Given the description of an element on the screen output the (x, y) to click on. 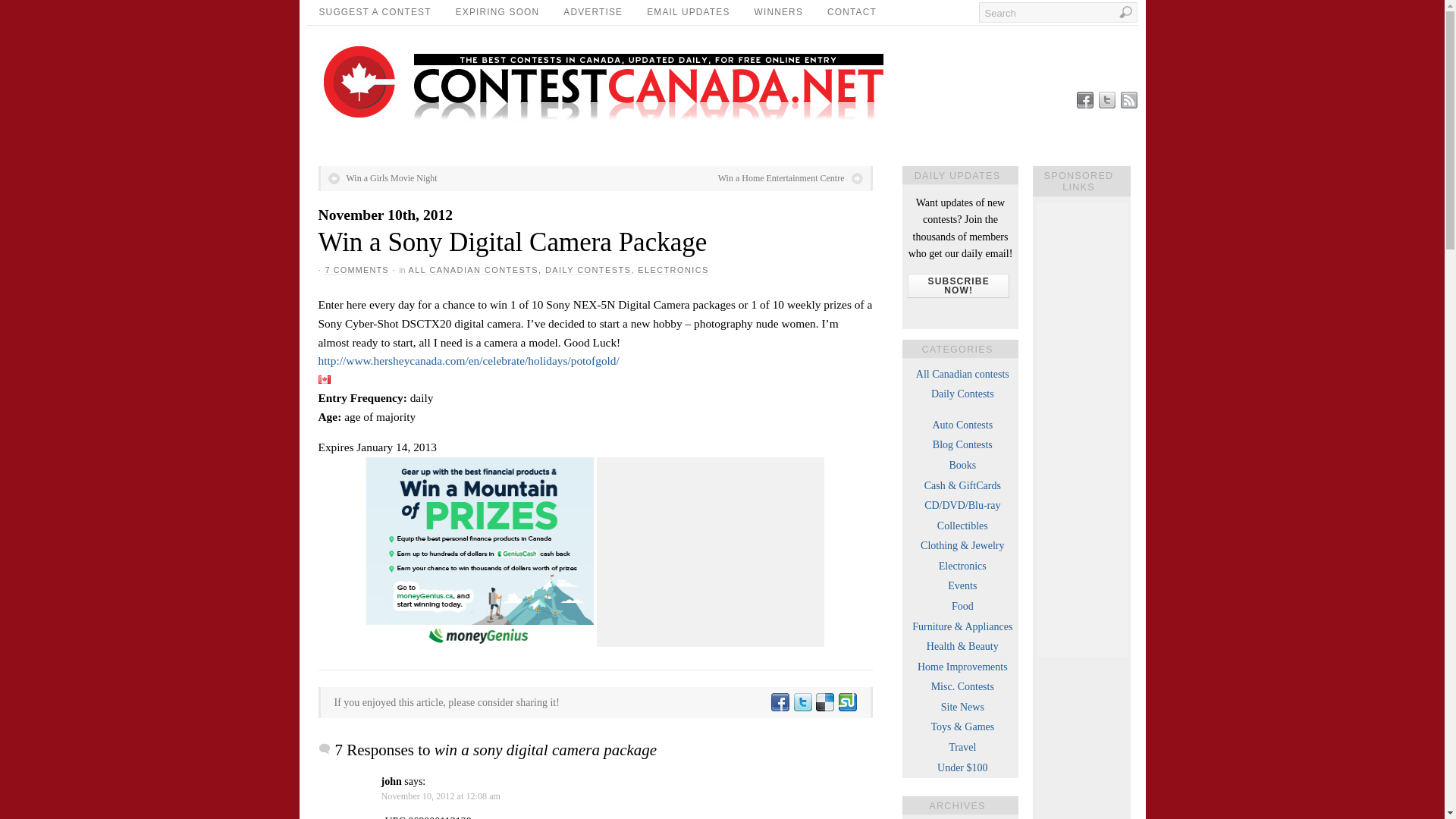
Electronics (963, 565)
EMAIL UPDATES (687, 12)
Canadian contests for automobiles (961, 424)
Blog Contests (962, 444)
SUGGEST A CONTEST (373, 12)
Collectibles (962, 525)
For CD and DVD contests in Canada. (962, 505)
DAILY CONTESTS (587, 270)
Advertisement (710, 552)
ADVERTISE (592, 12)
